Given the description of an element on the screen output the (x, y) to click on. 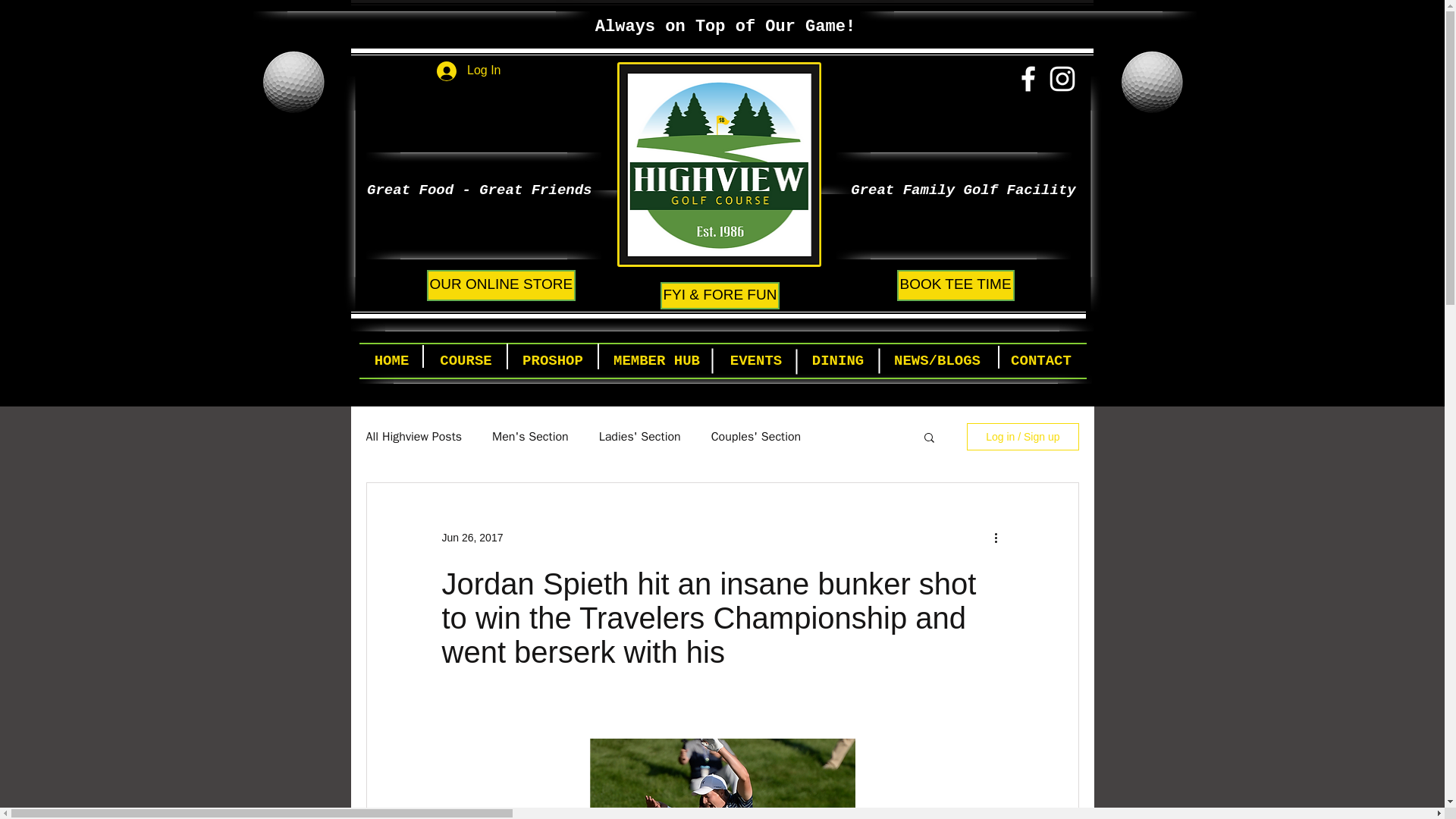
PROSHOP (553, 361)
COURSE (465, 361)
HOME (392, 361)
Log In (468, 70)
Ladies' Section (639, 437)
Jun 26, 2017 (471, 536)
Highview GC2.png (294, 82)
CONTACT (1040, 361)
Men's Section (530, 437)
Couples' Section (756, 437)
BOOK TEE TIME (954, 285)
All Highview Posts (413, 437)
EVENTS (756, 361)
Logo.png (719, 164)
DINING (838, 361)
